Given the description of an element on the screen output the (x, y) to click on. 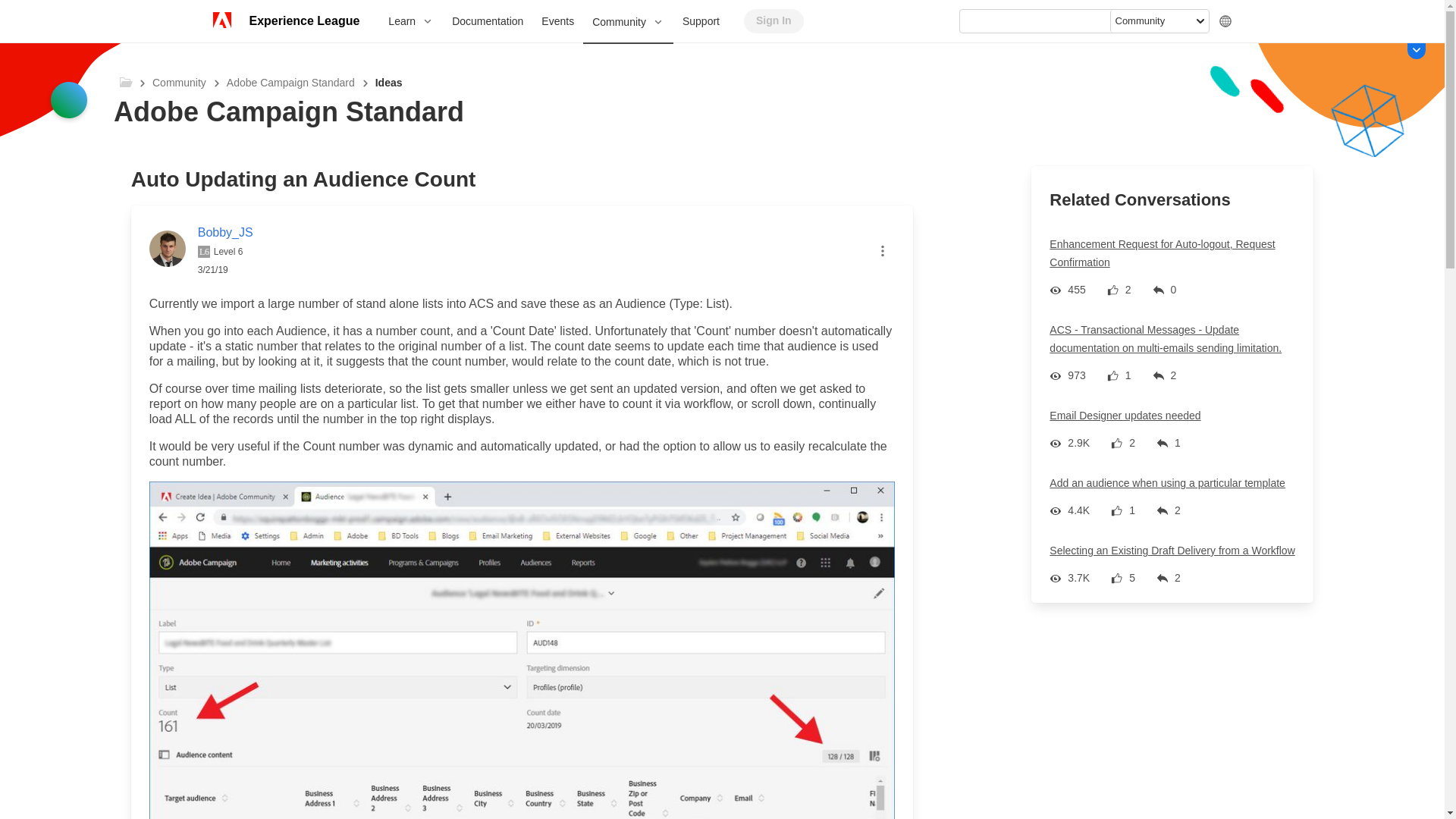
Experience League (304, 21)
Experience League (304, 21)
Events (557, 21)
Learn (410, 21)
Community (627, 22)
Documentation (487, 21)
Learn (410, 21)
